Given the description of an element on the screen output the (x, y) to click on. 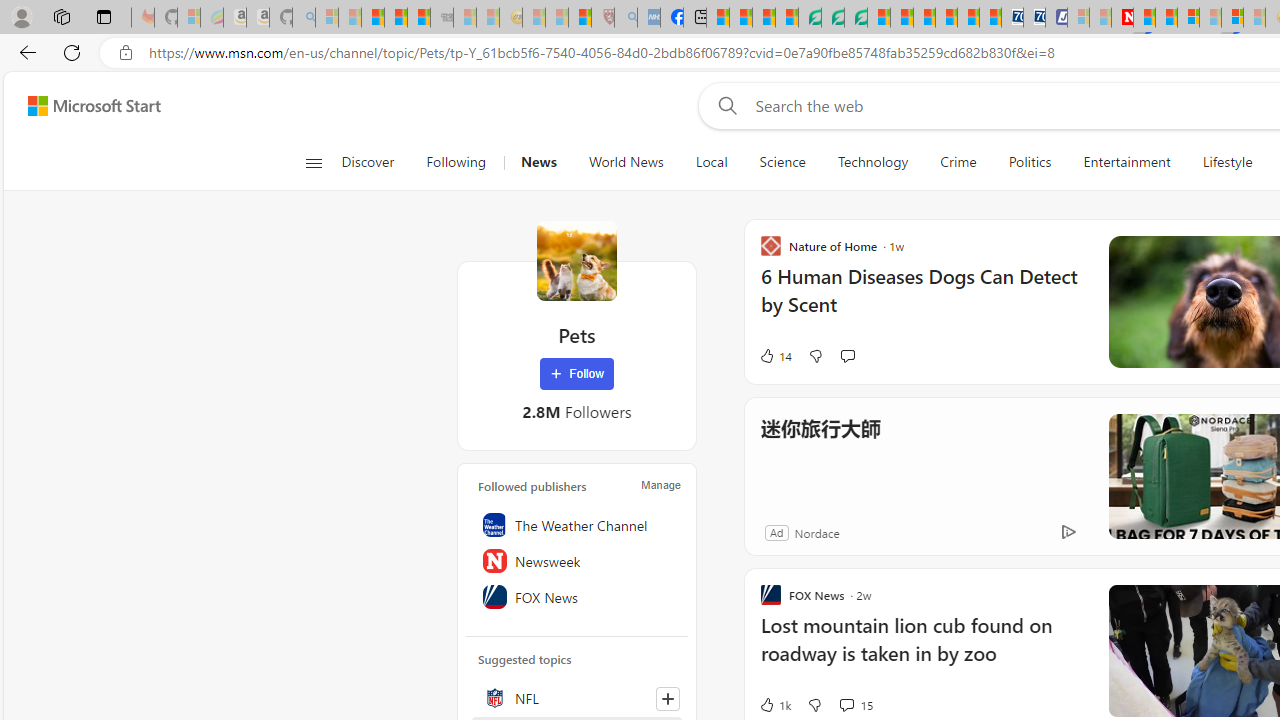
Following (457, 162)
Tab actions menu (104, 16)
Local - MSN (580, 17)
Science (781, 162)
The Weather Channel - MSN (372, 17)
New tab (694, 17)
Ad Choice (1068, 532)
Newsweek (577, 561)
Trusted Community Engagement and Contributions | Guidelines (1144, 17)
14 Common Myths Debunked By Scientific Facts (1166, 17)
Microsoft Word - consumer-privacy address update 2.2021 (855, 17)
Cheap Car Rentals - Save70.com (1012, 17)
Workspaces (61, 16)
